Given the description of an element on the screen output the (x, y) to click on. 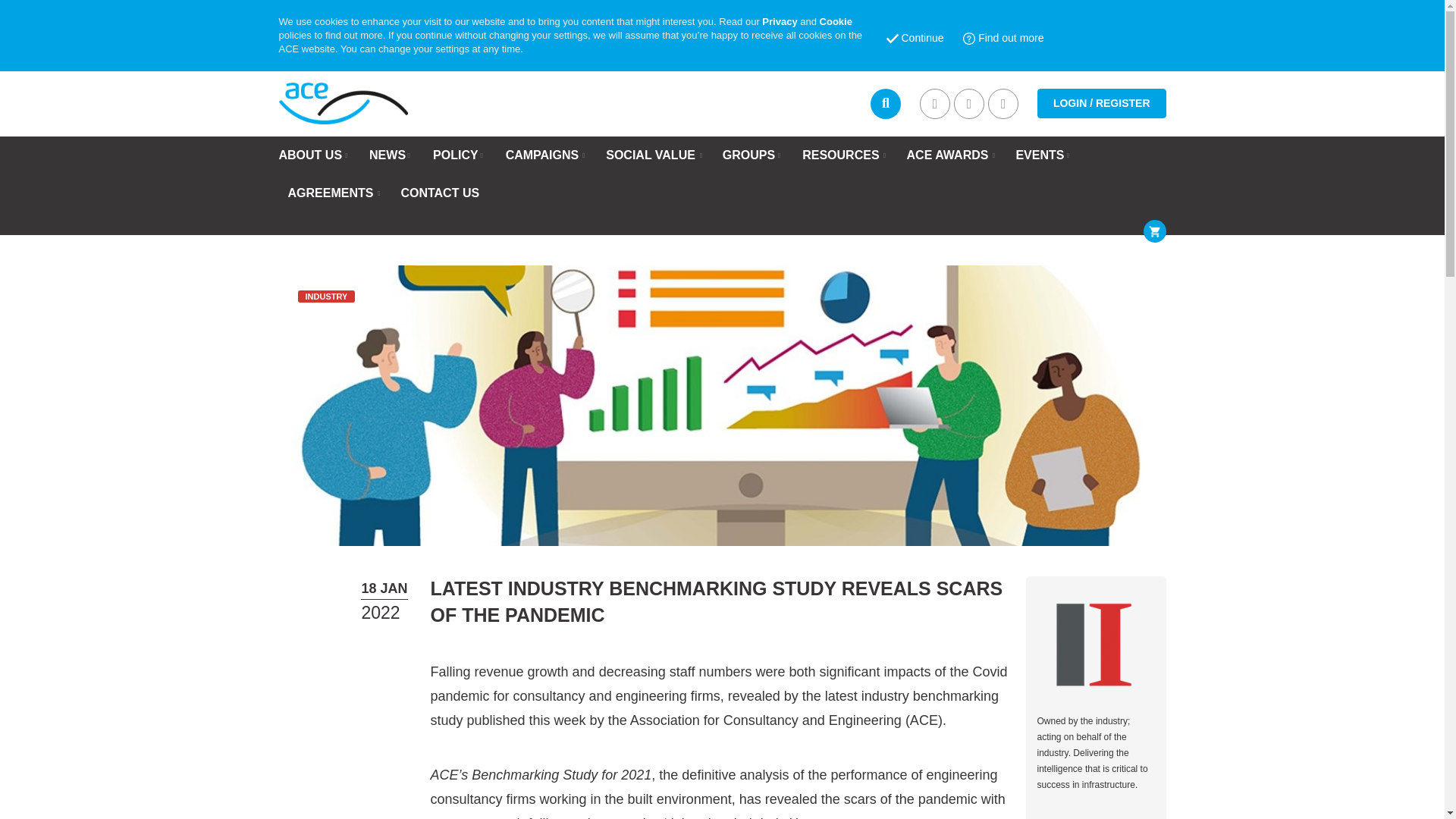
ABOUT US (310, 155)
Continue (914, 40)
Cookie (835, 21)
CAMPAIGNS (542, 155)
Privacy (778, 21)
NEWS (387, 155)
SOCIAL VALUE (650, 155)
GROUPS (748, 155)
Find out more (1002, 40)
POLICY (455, 155)
